Given the description of an element on the screen output the (x, y) to click on. 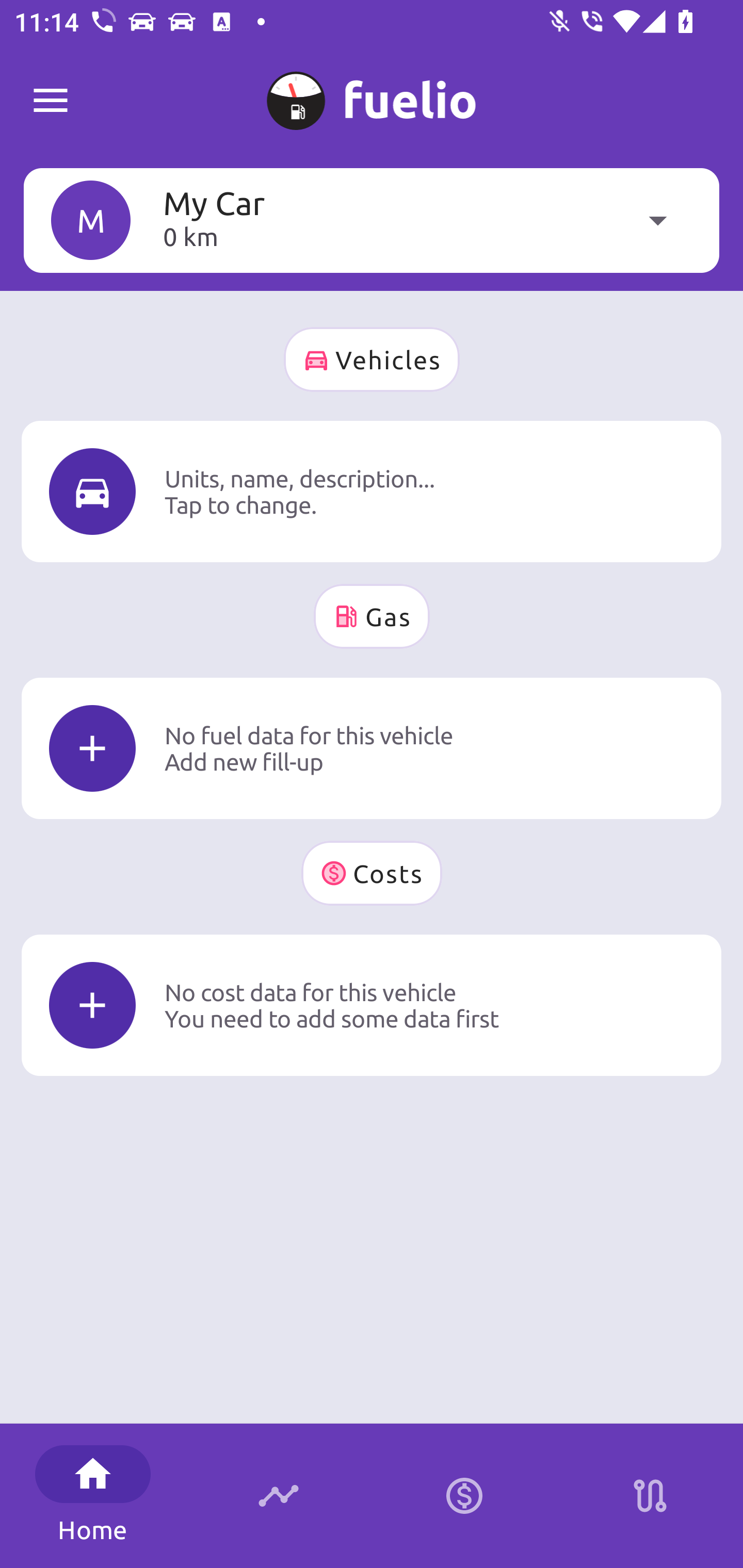
Fuelio (50, 101)
M My Car 0 km (371, 219)
Vehicles (371, 359)
Icon Units, name, description...
Tap to change. (371, 491)
Icon (92, 491)
Gas (371, 616)
Icon No fuel data for this vehicle
Add new fill-up (371, 747)
Icon (92, 748)
Costs (371, 873)
Icon (92, 1004)
Timeline (278, 1495)
Calculator (464, 1495)
Stations on route (650, 1495)
